Given the description of an element on the screen output the (x, y) to click on. 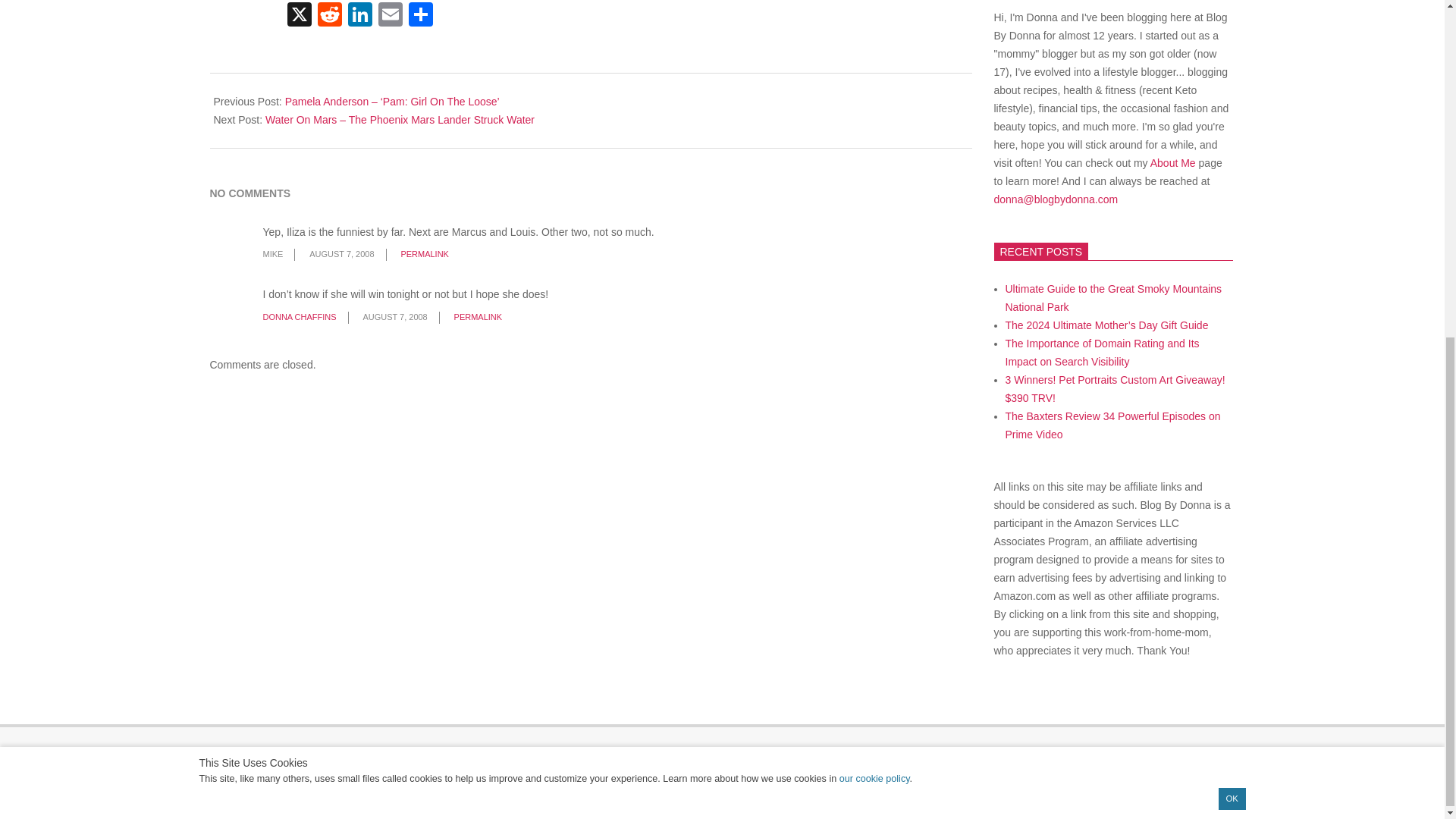
Thursday, August 7, 2008, 6:56 pm (394, 316)
LinkedIn (358, 16)
X (298, 16)
Email (389, 16)
Magazine Hoot WordPress Theme (732, 791)
Thursday, August 7, 2008, 6:33 pm (341, 253)
Reddit (328, 16)
